Given the description of an element on the screen output the (x, y) to click on. 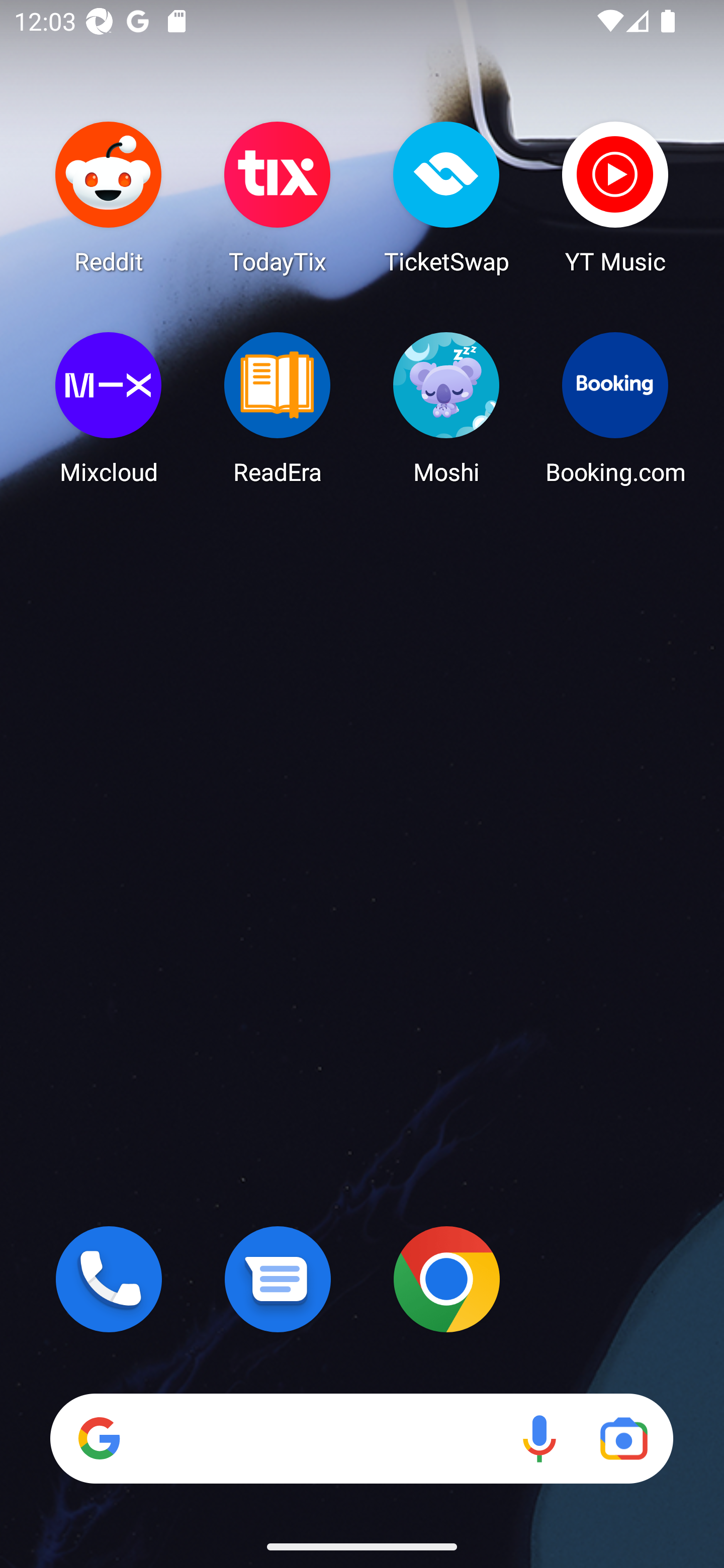
Reddit (108, 196)
TodayTix (277, 196)
TicketSwap (445, 196)
YT Music (615, 196)
Mixcloud (108, 407)
ReadEra (277, 407)
Moshi (445, 407)
Booking.com (615, 407)
Phone (108, 1279)
Messages (277, 1279)
Chrome (446, 1279)
Search Voice search Google Lens (361, 1438)
Voice search (539, 1438)
Google Lens (623, 1438)
